Given the description of an element on the screen output the (x, y) to click on. 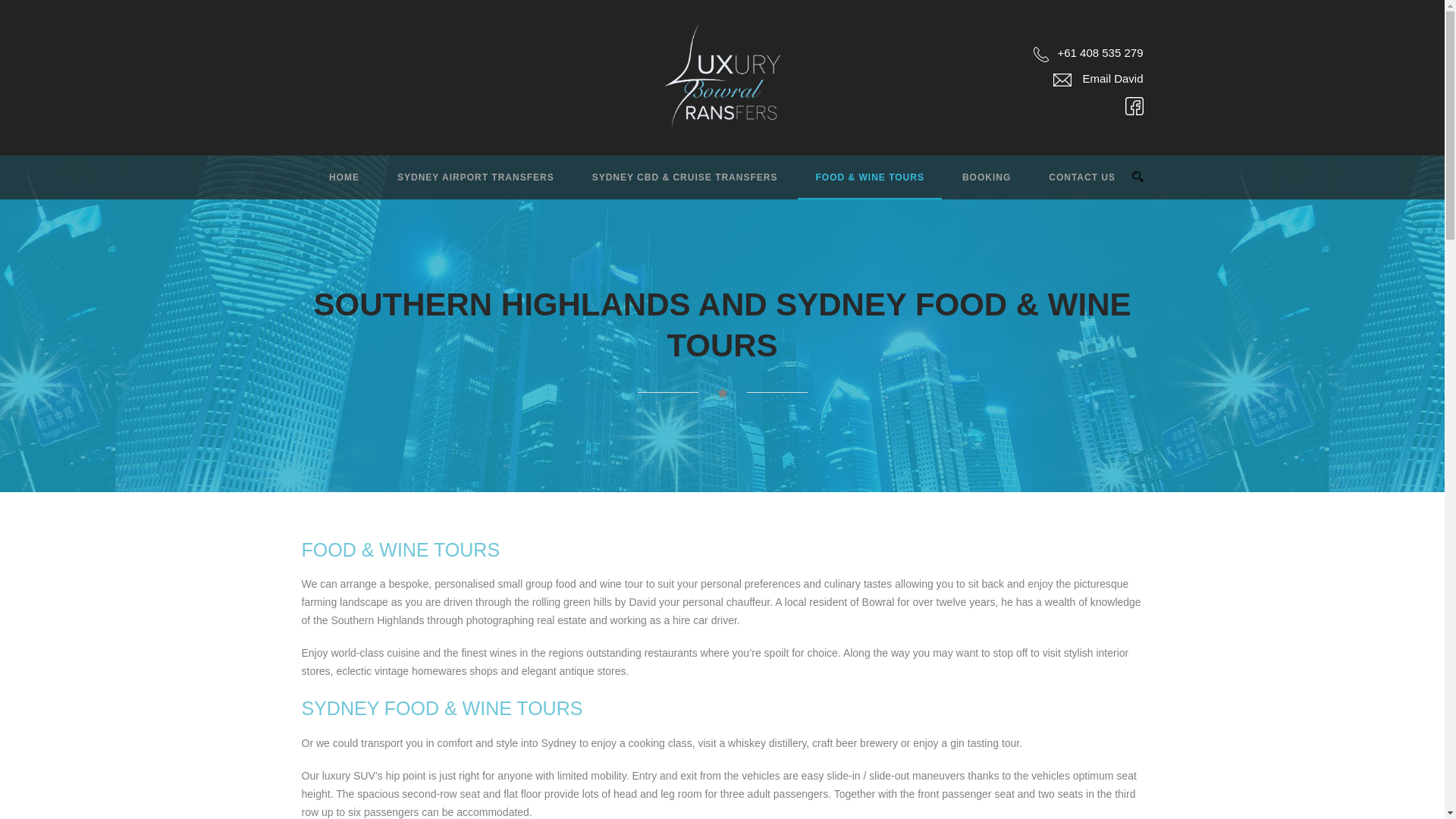
BOOKING Element type: text (967, 184)
CONTACT US Element type: text (1062, 184)
HOME Element type: text (335, 184)
SYDNEY AIRPORT TRANSFERS Element type: text (456, 184)
SYDNEY CBD & CRUISE TRANSFERS Element type: text (666, 184)
+61 408 535 279 Element type: text (1087, 59)
Email David Element type: text (1098, 78)
FOOD & WINE TOURS Element type: text (850, 184)
